Given the description of an element on the screen output the (x, y) to click on. 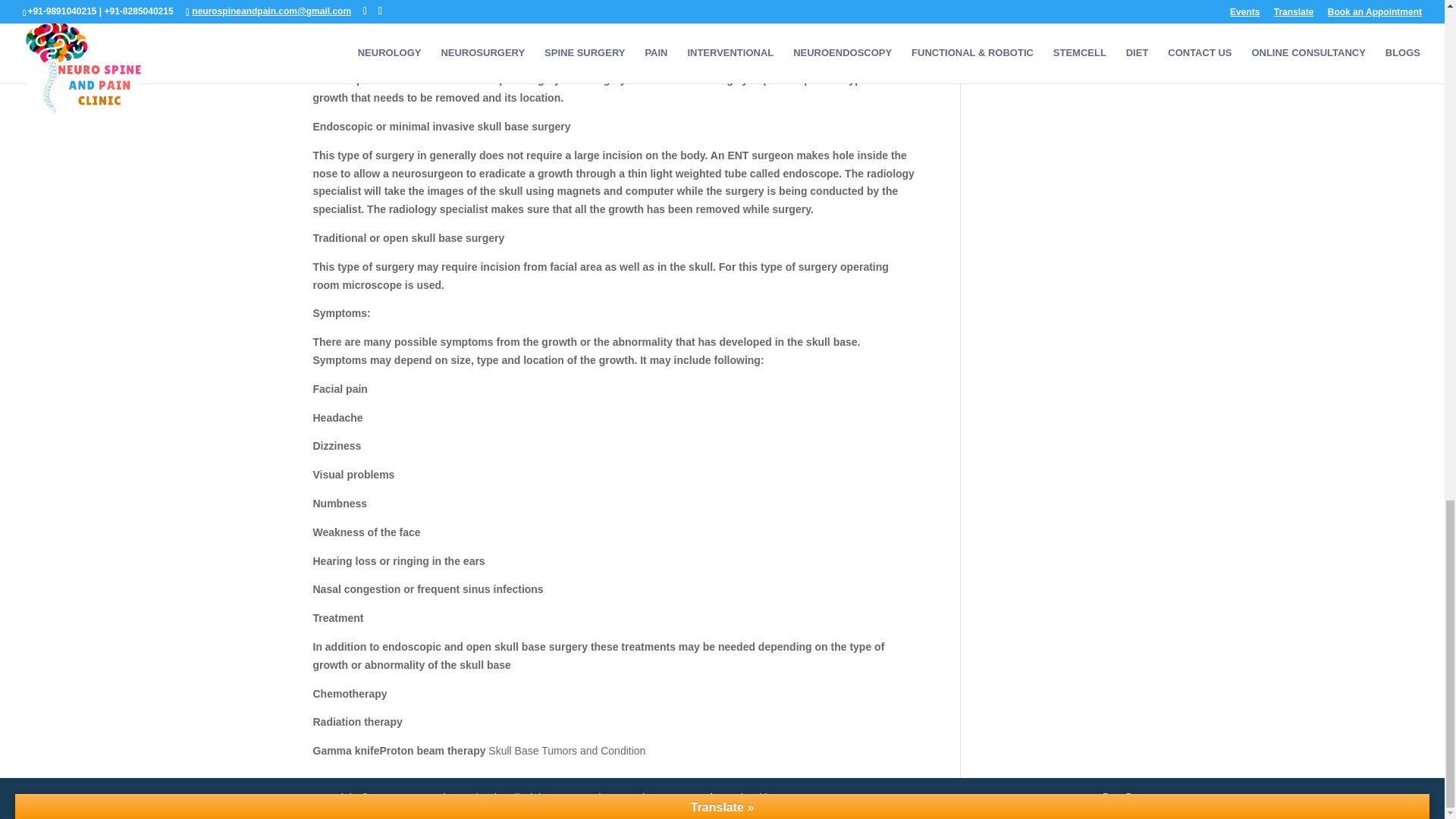
Intact Web. (690, 797)
